Given the description of an element on the screen output the (x, y) to click on. 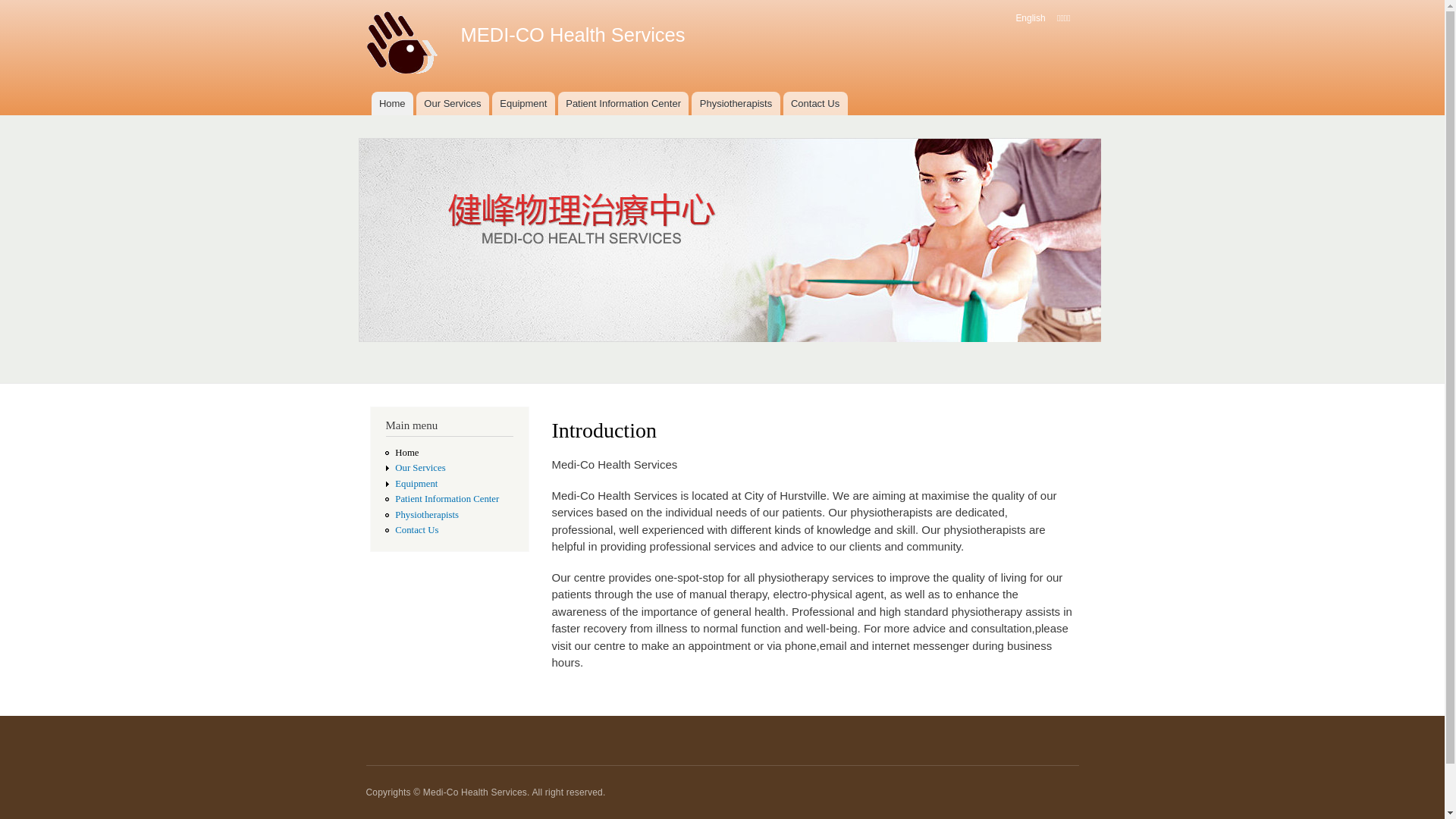
Home Element type: hover (402, 45)
Home Element type: text (392, 103)
English Element type: text (1029, 17)
Skip to main content Element type: text (690, 1)
Our Services Element type: text (420, 467)
Our Services Element type: text (452, 103)
Contact Us Element type: text (416, 529)
Physiotherapists Element type: text (426, 514)
Physiotherapists Element type: text (735, 103)
Equipment Element type: text (523, 103)
MEDI-CO Health Services Element type: text (573, 34)
Equipment Element type: text (416, 483)
Patient Information Center Element type: text (446, 498)
Contact Us Element type: text (815, 103)
Home Element type: text (406, 452)
Patient Information Center Element type: text (623, 103)
